Given the description of an element on the screen output the (x, y) to click on. 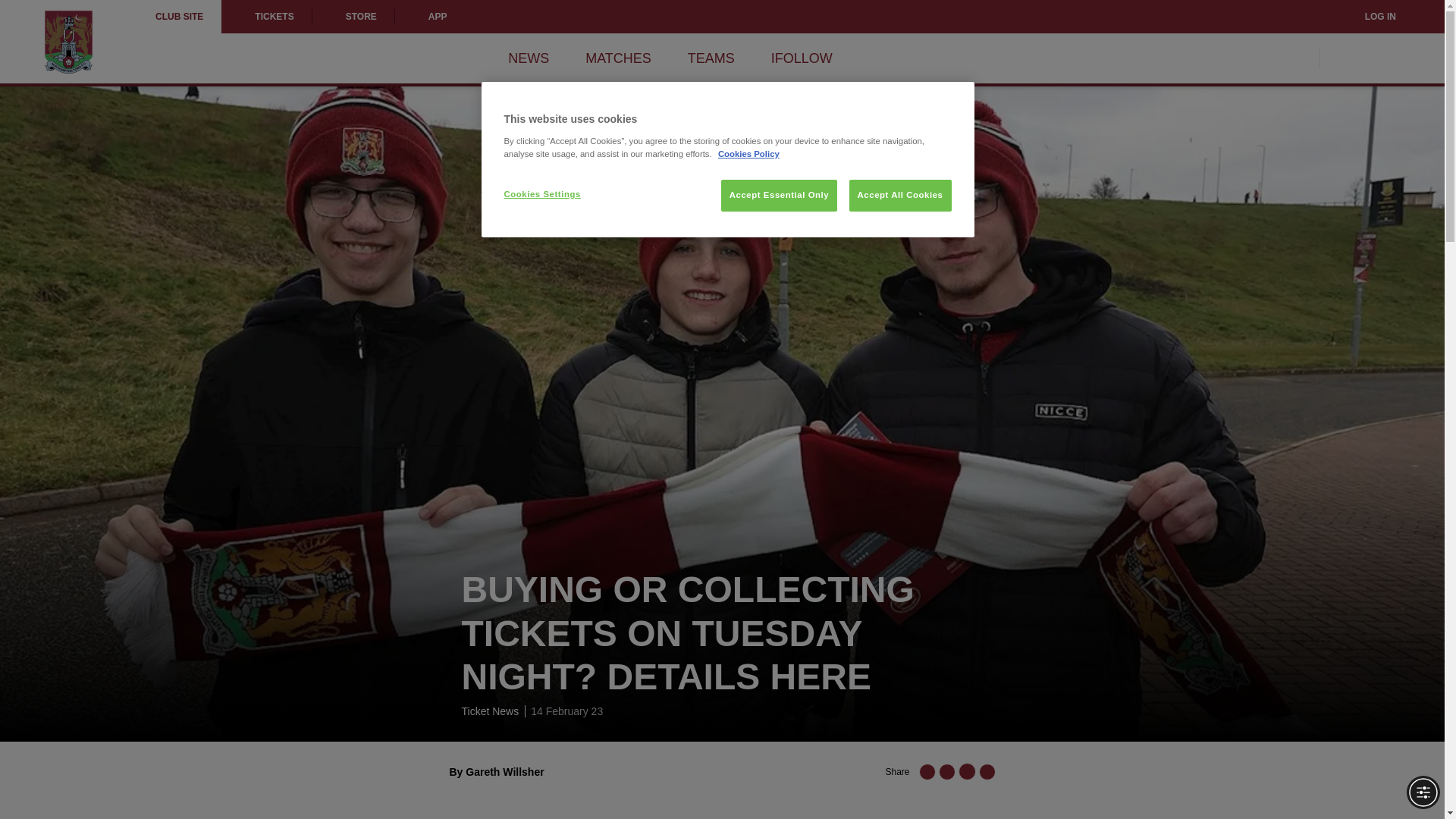
TICKETS (266, 16)
APP (429, 16)
IFOLLOW (801, 58)
STORE (353, 16)
MATCHES (617, 58)
CLUB SITE (178, 16)
Help widget launcher (75, 781)
Accessibility Menu (1422, 792)
TEAMS (711, 58)
